Given the description of an element on the screen output the (x, y) to click on. 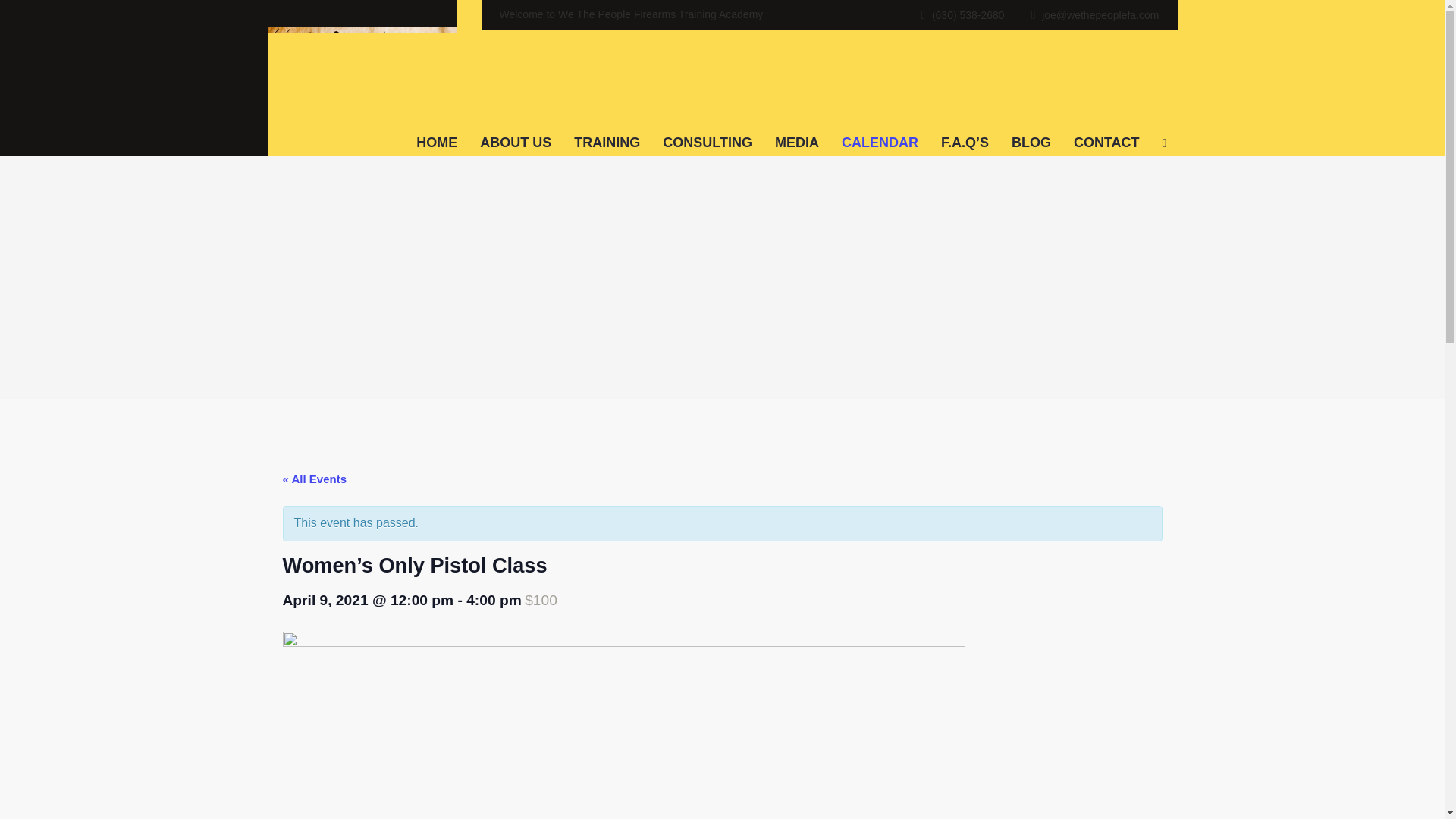
BLOG (1031, 128)
CALENDAR (879, 128)
Instagram (1128, 25)
CONTACT (1106, 128)
Facebook (1093, 25)
We the People Firearms Academy (361, 50)
Welcome to We The People Firearms Training Academy (630, 14)
ABOUT US (515, 128)
Youtube (1163, 25)
HOME (436, 128)
MEDIA (795, 128)
CONSULTING (706, 128)
TRAINING (606, 128)
